Given the description of an element on the screen output the (x, y) to click on. 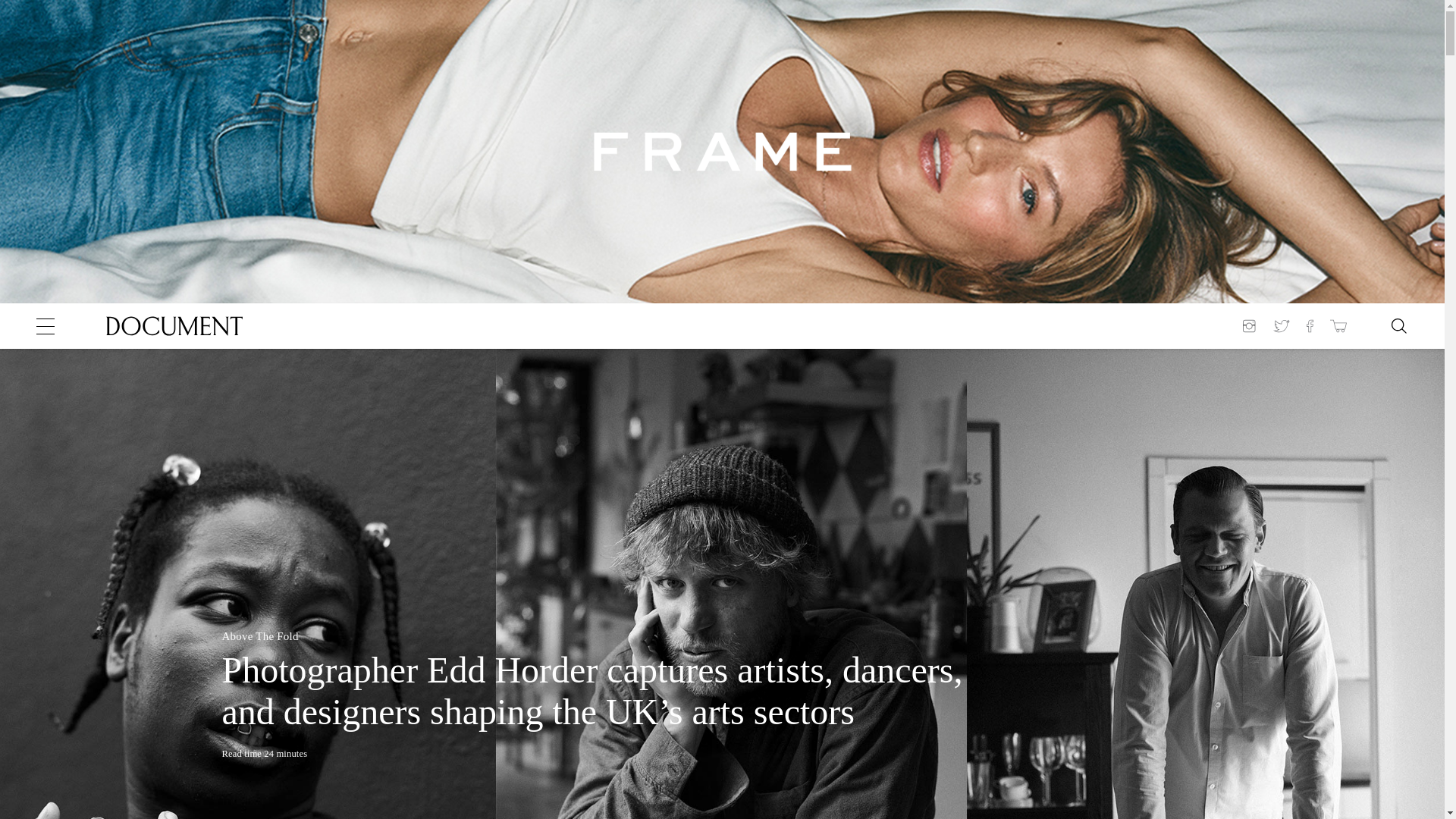
Follow on Instagram (1251, 326)
Shop (1338, 326)
Follow on Twitter (1281, 326)
